Given the description of an element on the screen output the (x, y) to click on. 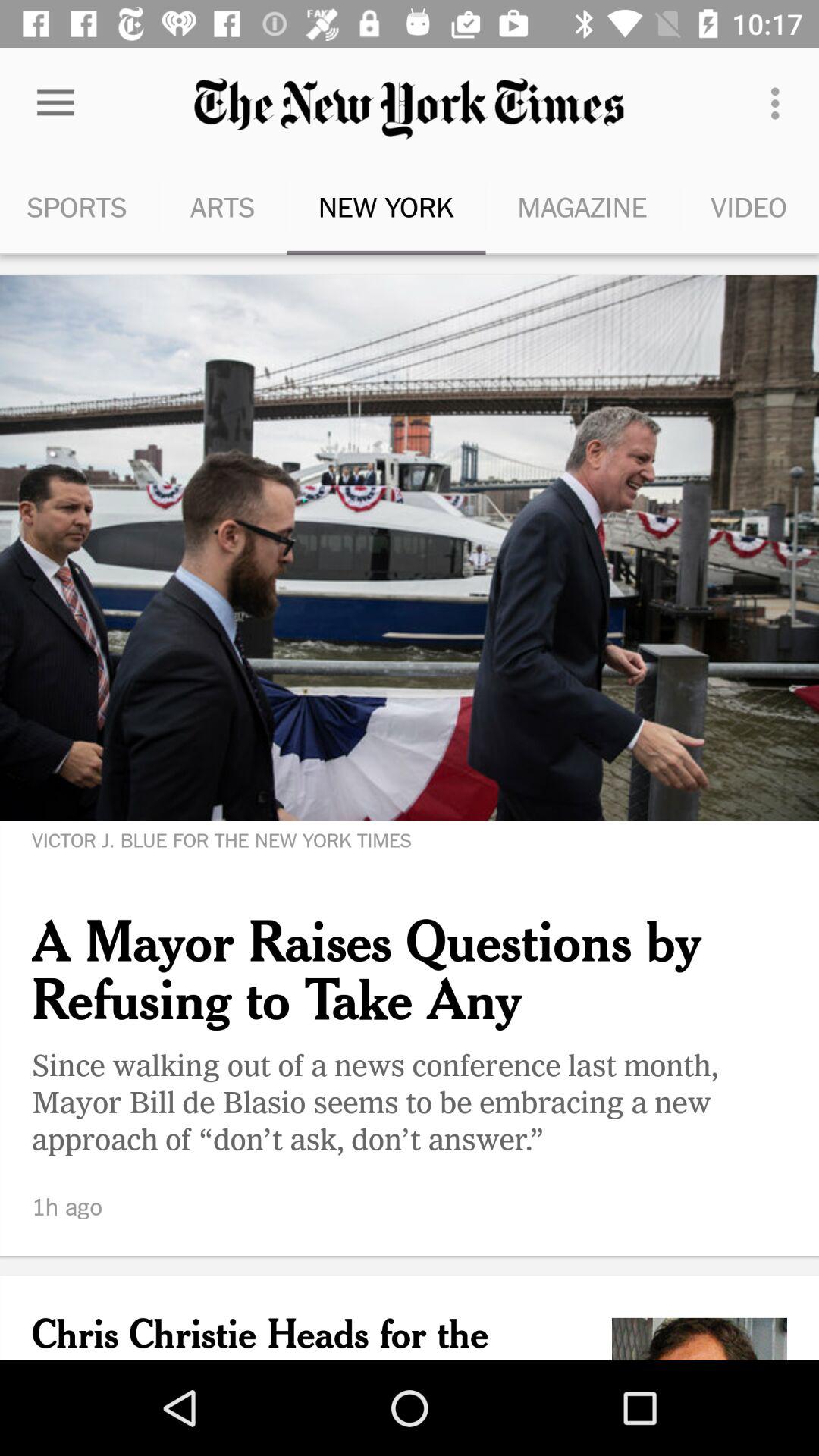
press item to the right of the sports (222, 206)
